Given the description of an element on the screen output the (x, y) to click on. 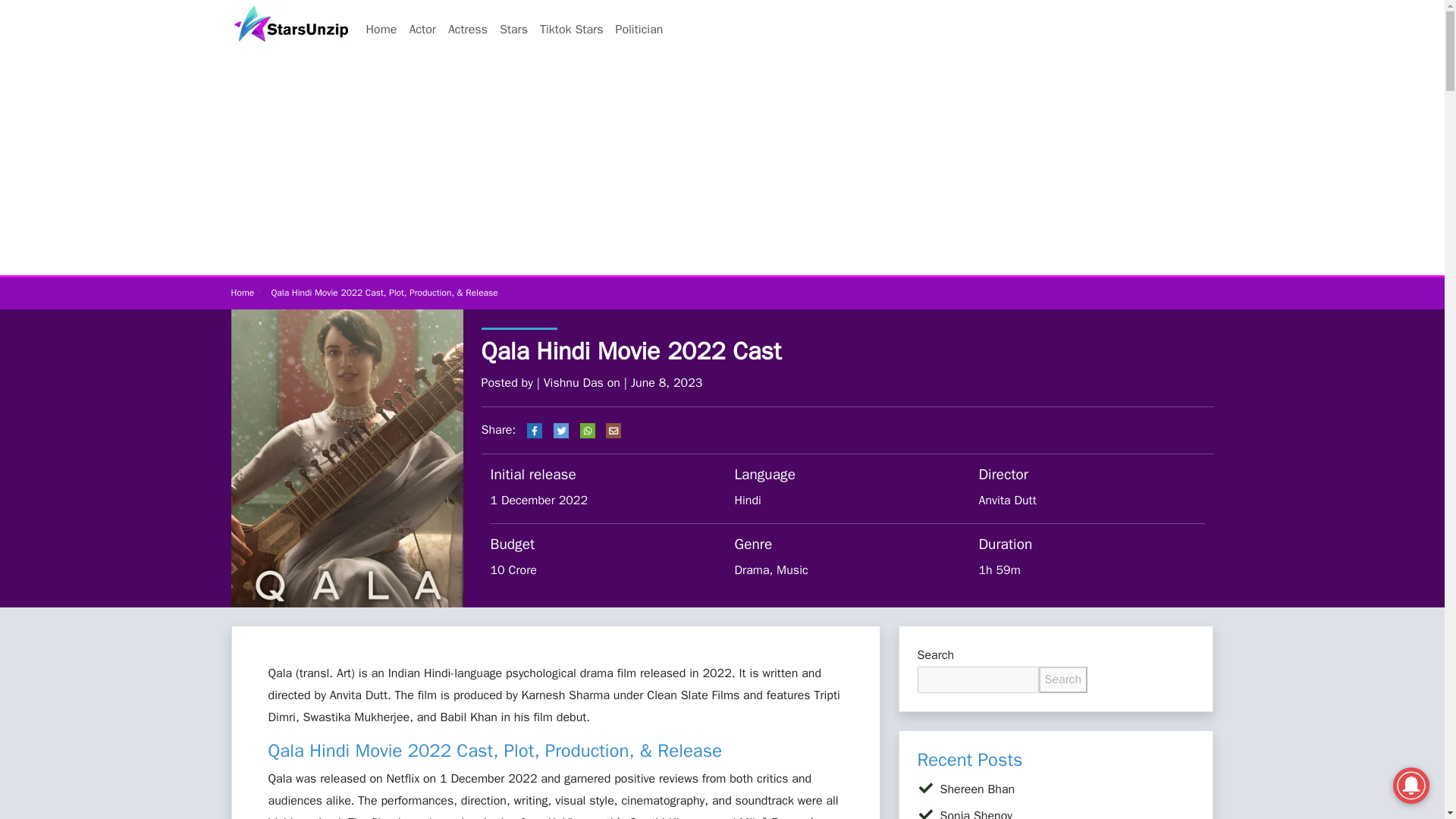
Politician (638, 29)
Actress (467, 29)
Search (1063, 679)
Home (241, 292)
Tiktok Stars (571, 29)
Home (381, 29)
Stars (513, 29)
Shereen Bhan (977, 789)
Sonia Shenoy (976, 813)
Actor (422, 29)
